Given the description of an element on the screen output the (x, y) to click on. 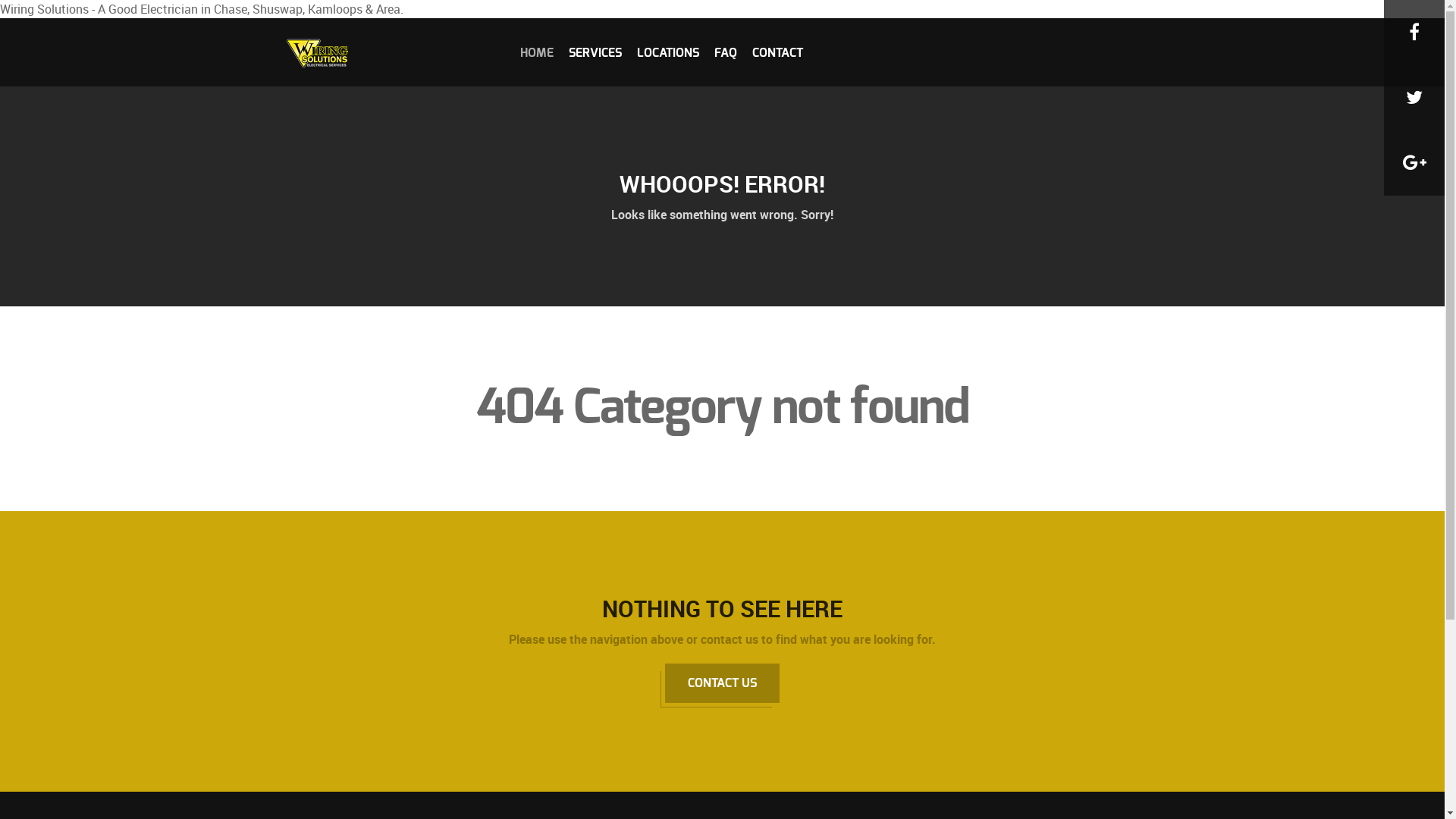
FAQ Element type: text (725, 52)
HOME Element type: text (536, 52)
CONTACT Element type: text (777, 52)
NOTHING TO SEE HERE Element type: text (722, 608)
CONTACT US Element type: text (722, 682)
SERVICES Element type: text (594, 52)
LOCATIONS Element type: text (668, 52)
